Given the description of an element on the screen output the (x, y) to click on. 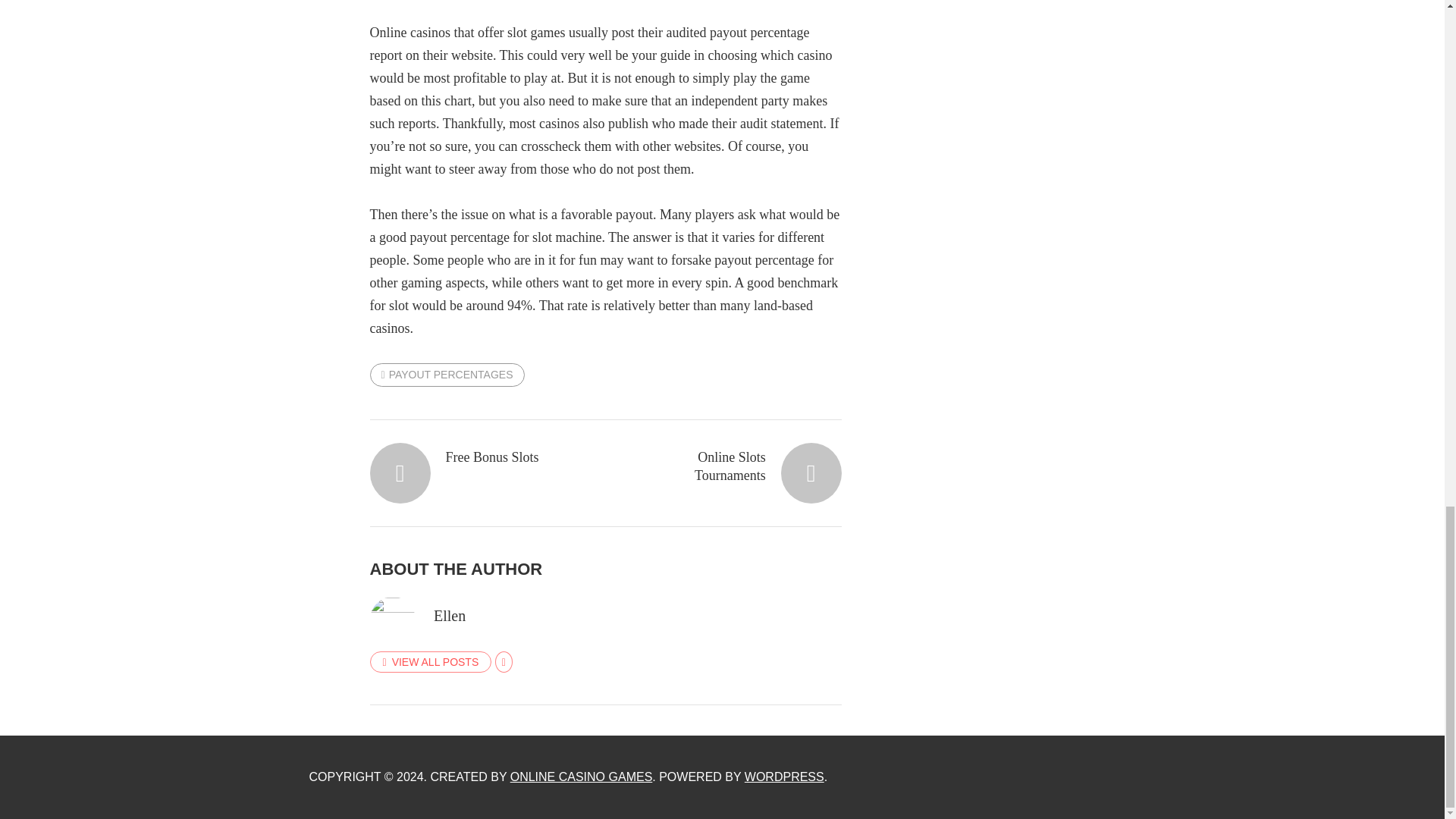
WORDPRESS (784, 776)
ONLINE CASINO GAMES (581, 776)
VIEW ALL POSTS (430, 661)
PAYOUT PERCENTAGES (446, 374)
Free Bonus Slots (476, 457)
Online Slots Tournaments (734, 466)
